Given the description of an element on the screen output the (x, y) to click on. 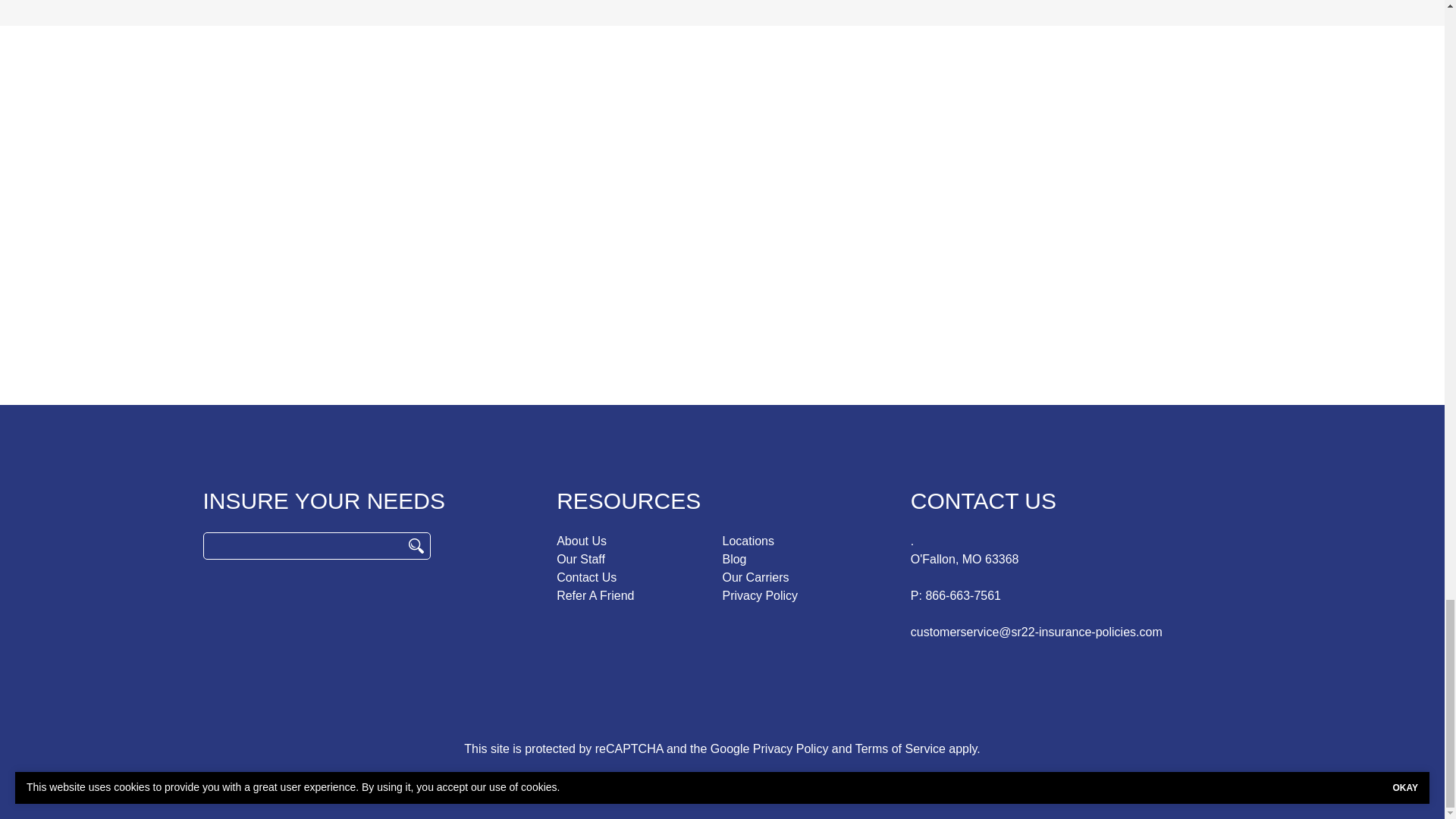
Search (416, 545)
Insurance Website Builder (831, 779)
